Given the description of an element on the screen output the (x, y) to click on. 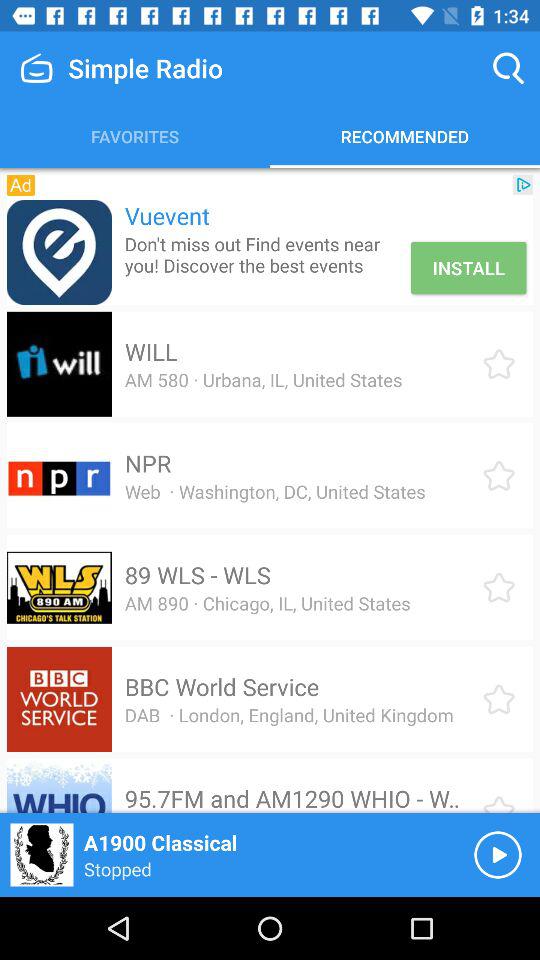
link to advertisement 's page (58, 251)
